Given the description of an element on the screen output the (x, y) to click on. 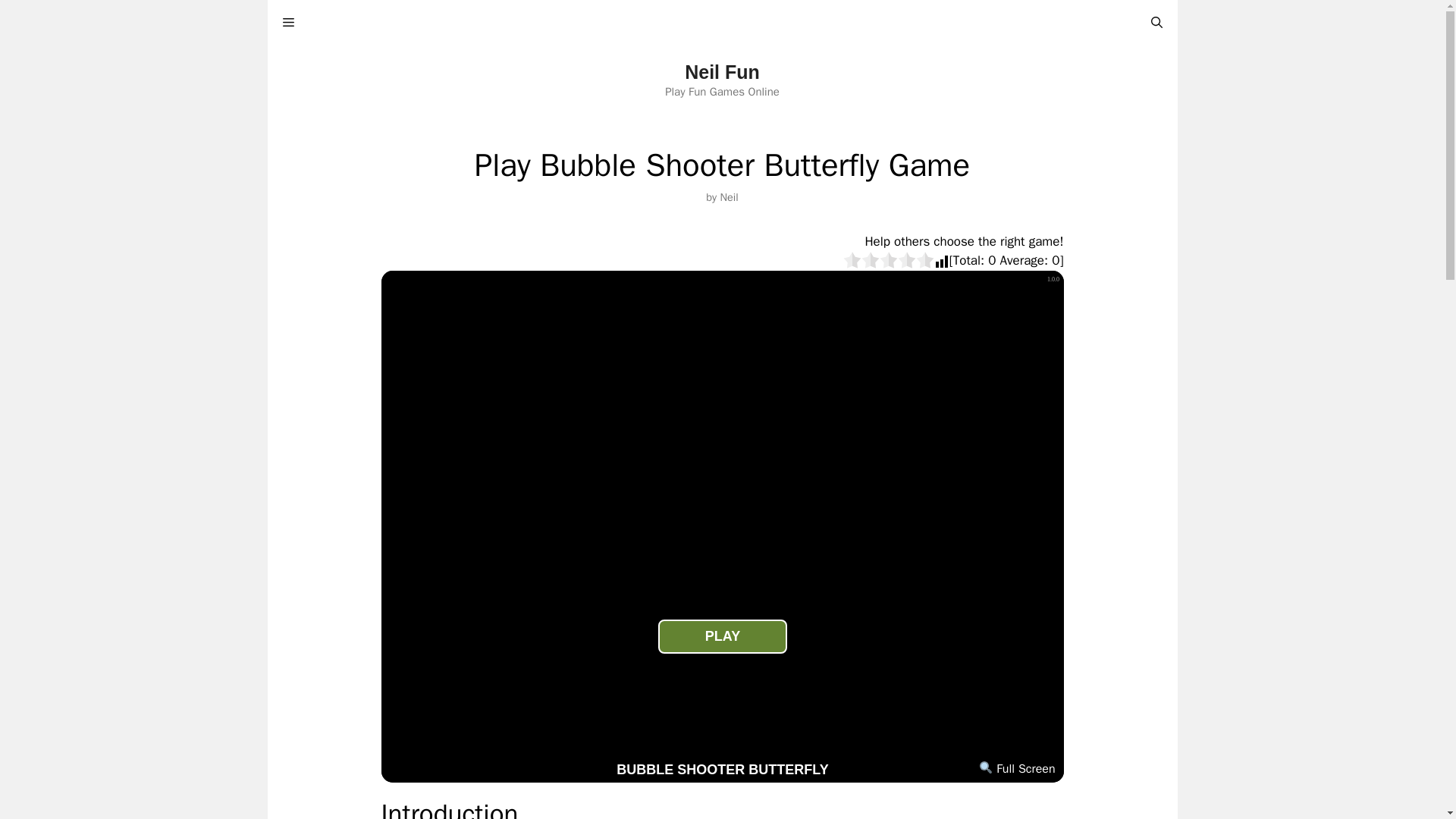
View all posts by Neil (728, 196)
Full Screen (1016, 768)
Neil (728, 196)
Neil Fun (722, 71)
